Given the description of an element on the screen output the (x, y) to click on. 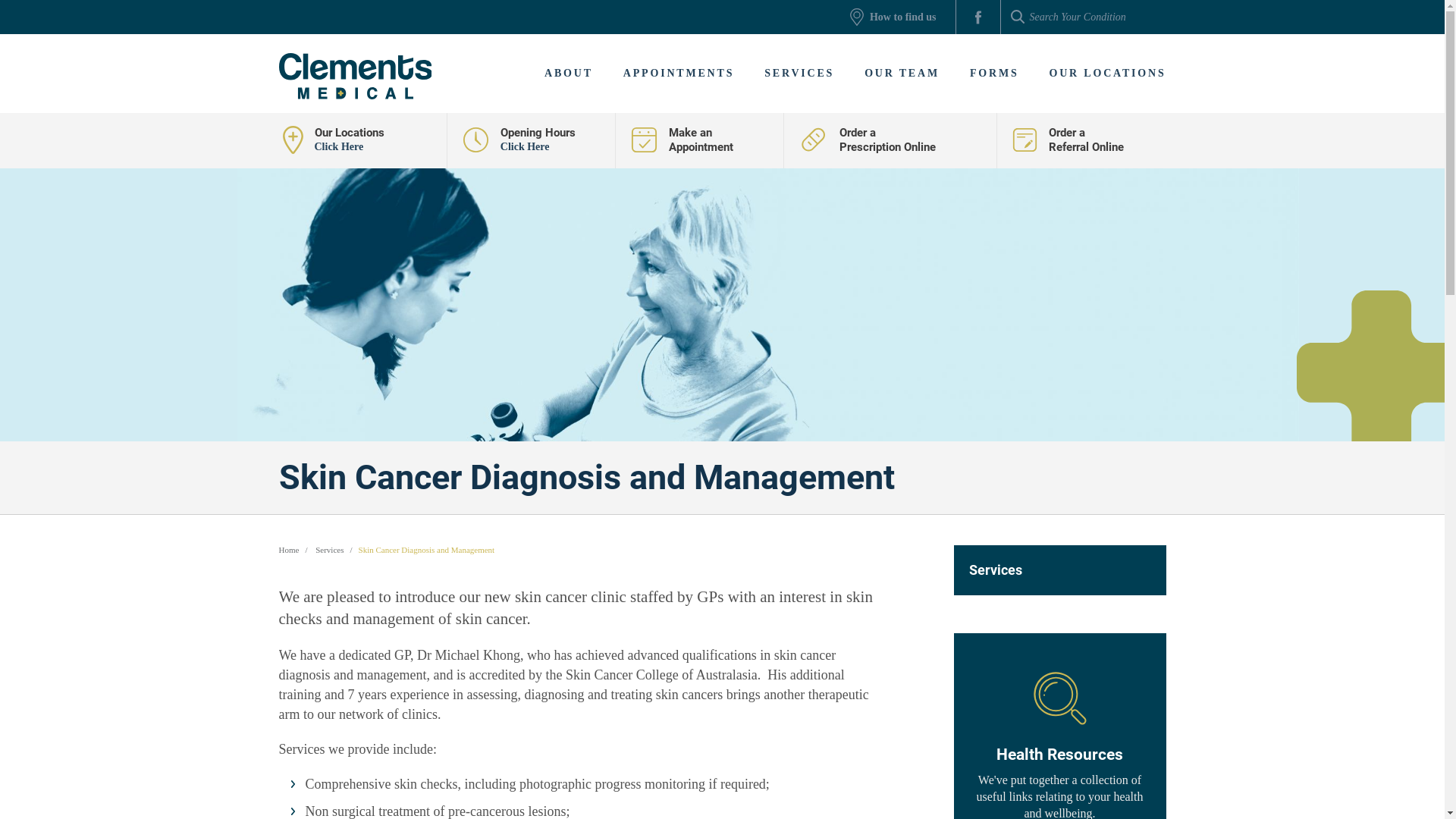
APPOINTMENTS Element type: text (678, 73)
How to find us Element type: text (893, 17)
Our Locations
Click Here Element type: text (363, 140)
Services Element type: text (329, 549)
Order a
Referral Online Element type: text (1081, 140)
OUR LOCATIONS Element type: text (1100, 73)
Home Element type: text (289, 549)
ABOUT Element type: text (568, 73)
SERVICES Element type: text (799, 73)
OUR TEAM Element type: text (901, 73)
FORMS Element type: text (994, 73)
Order a
Prescription Online Element type: text (890, 140)
Opening Hours
Click Here Element type: text (531, 140)
Make an Appointment Element type: text (699, 140)
